Given the description of an element on the screen output the (x, y) to click on. 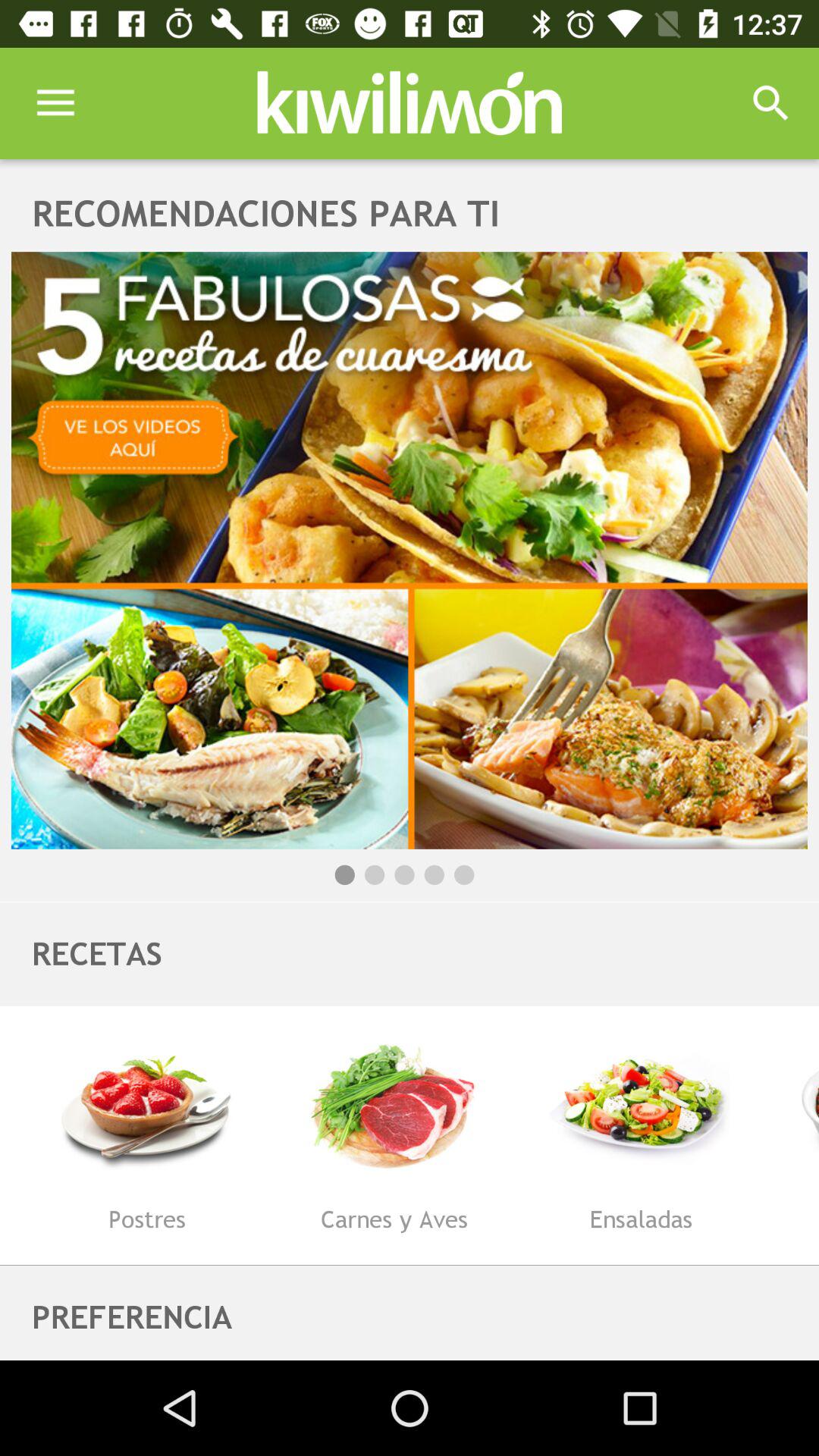
open icon at the top right corner (771, 103)
